Given the description of an element on the screen output the (x, y) to click on. 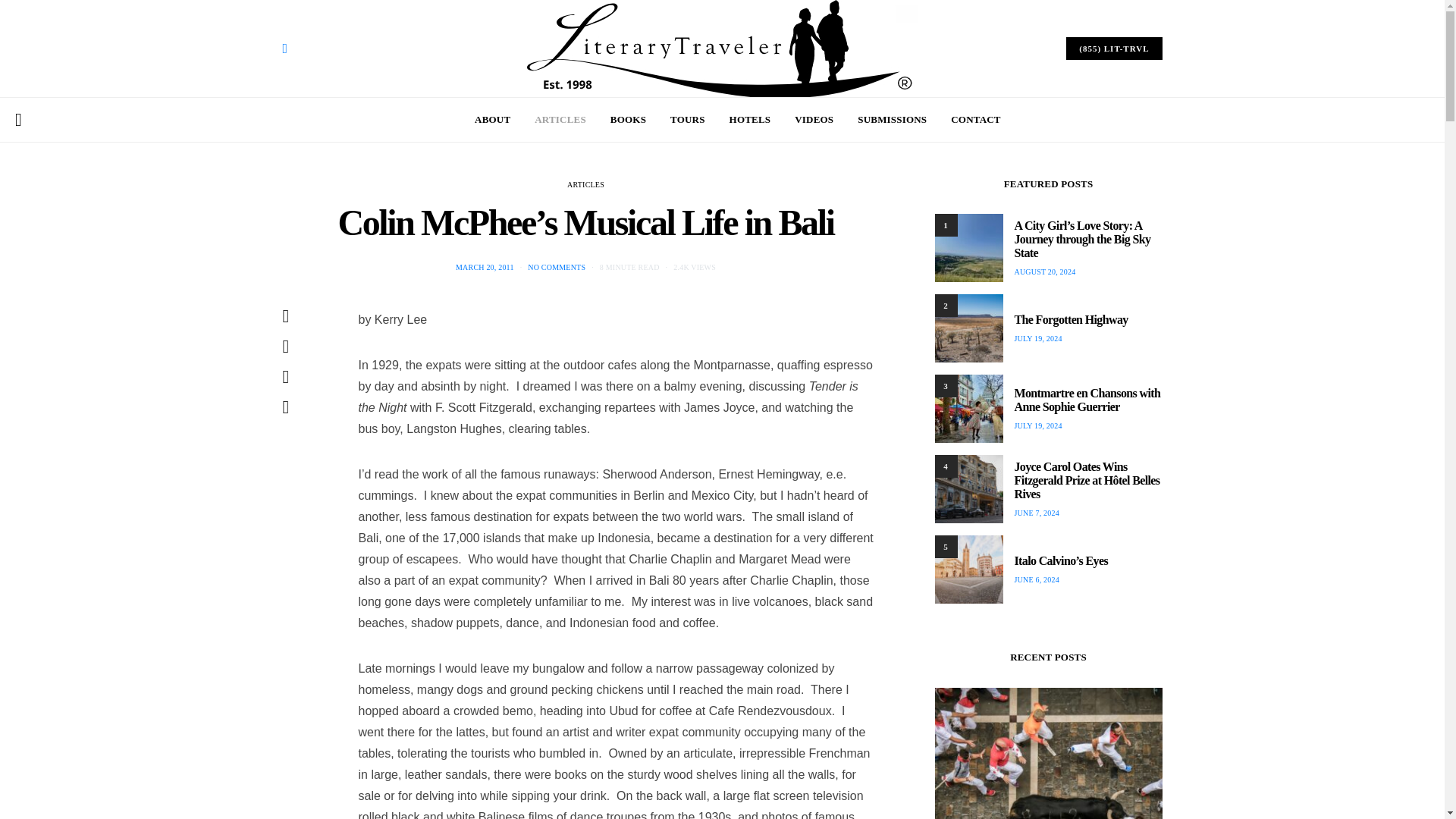
CONTACT (975, 119)
NO COMMENTS (556, 266)
ARTICLES (585, 184)
ARTICLES (560, 119)
MARCH 20, 2011 (484, 266)
HOTELS (750, 119)
SUBMISSIONS (891, 119)
